Given the description of an element on the screen output the (x, y) to click on. 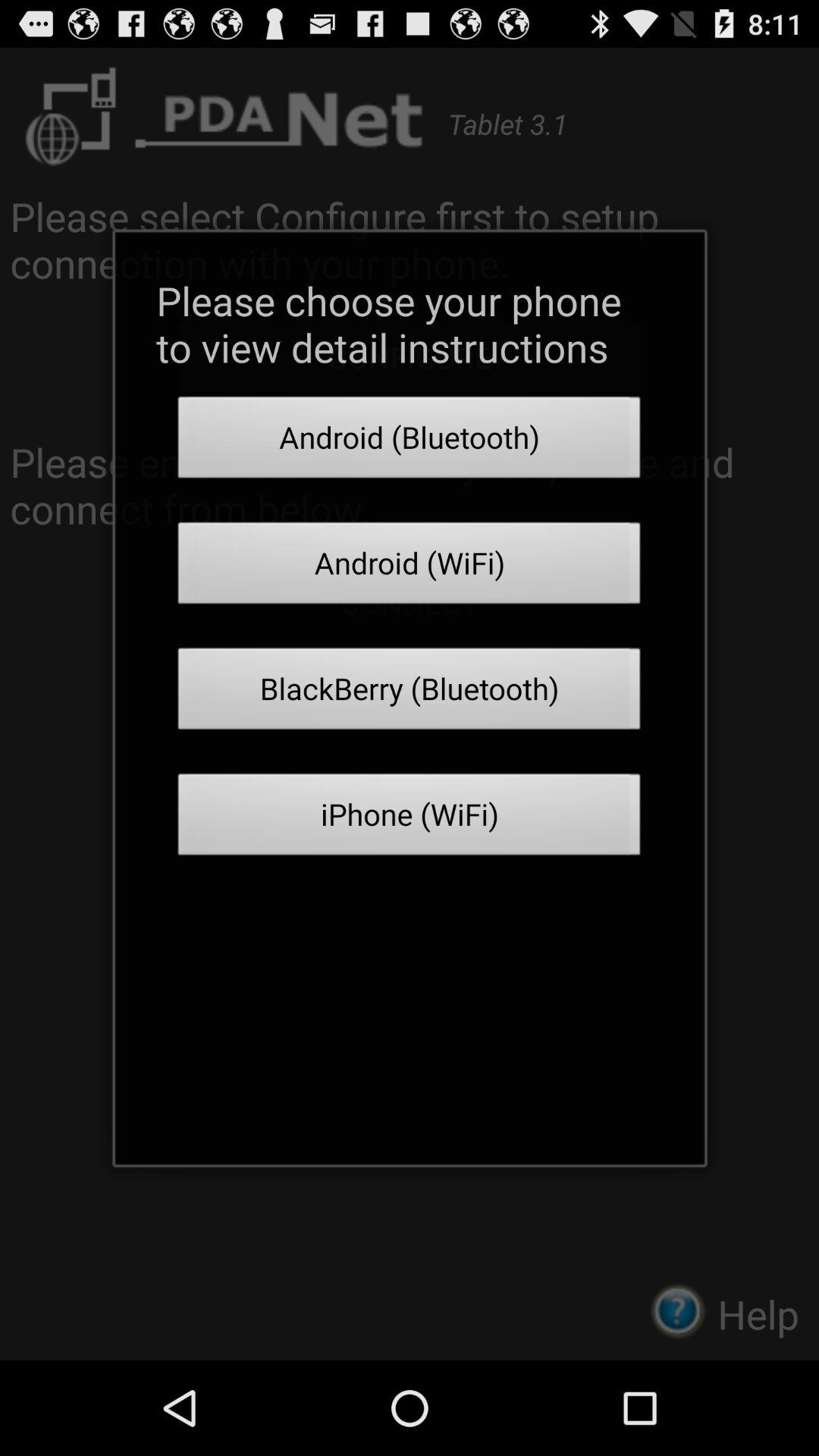
scroll until the blackberry (bluetooth) item (409, 693)
